Given the description of an element on the screen output the (x, y) to click on. 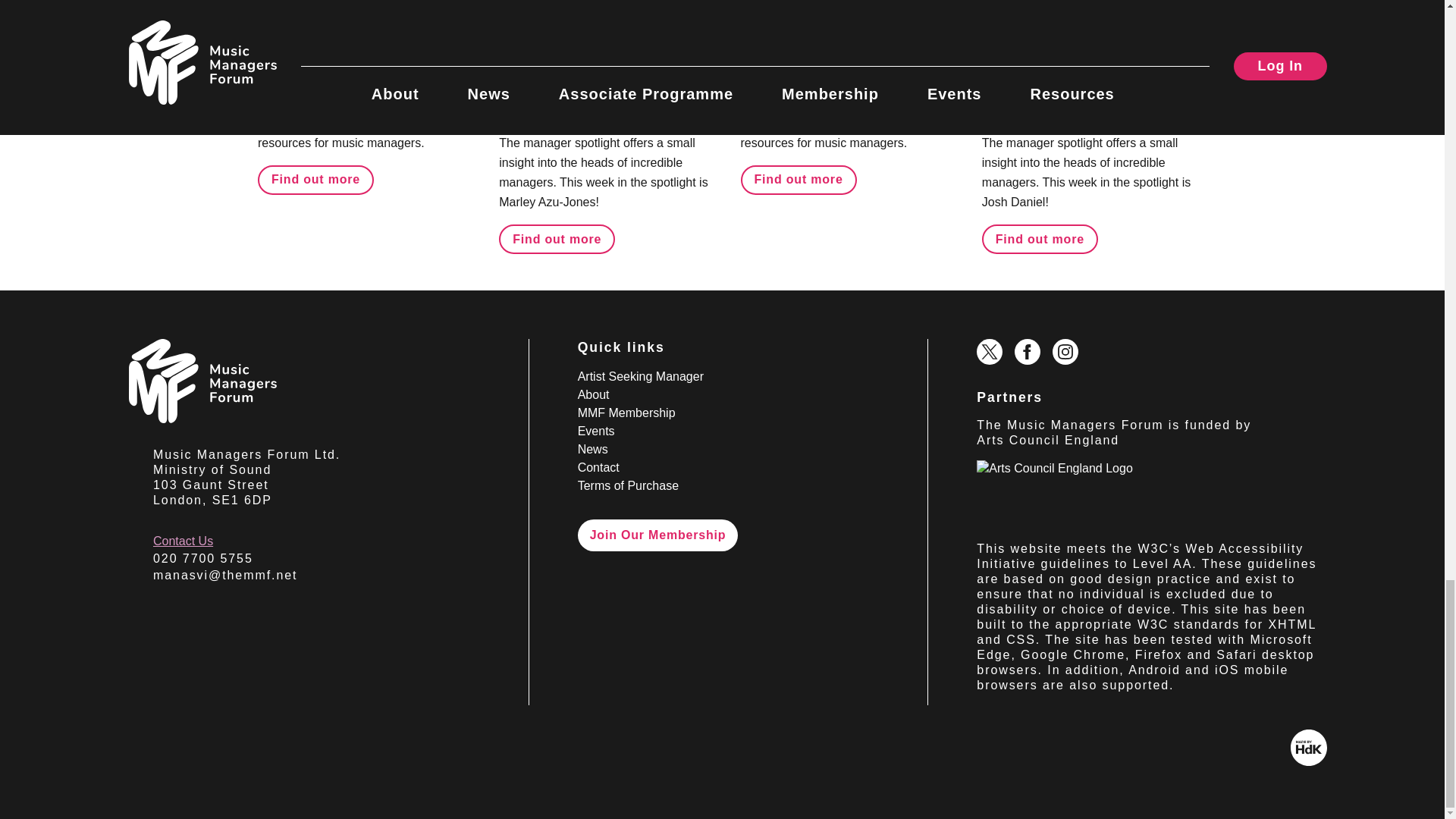
Find out more (556, 238)
News (392, 22)
Find out more (315, 179)
Manager's Spotlight (563, 22)
News (875, 22)
MMF Updates (788, 22)
MMF Updates (305, 22)
